Given the description of an element on the screen output the (x, y) to click on. 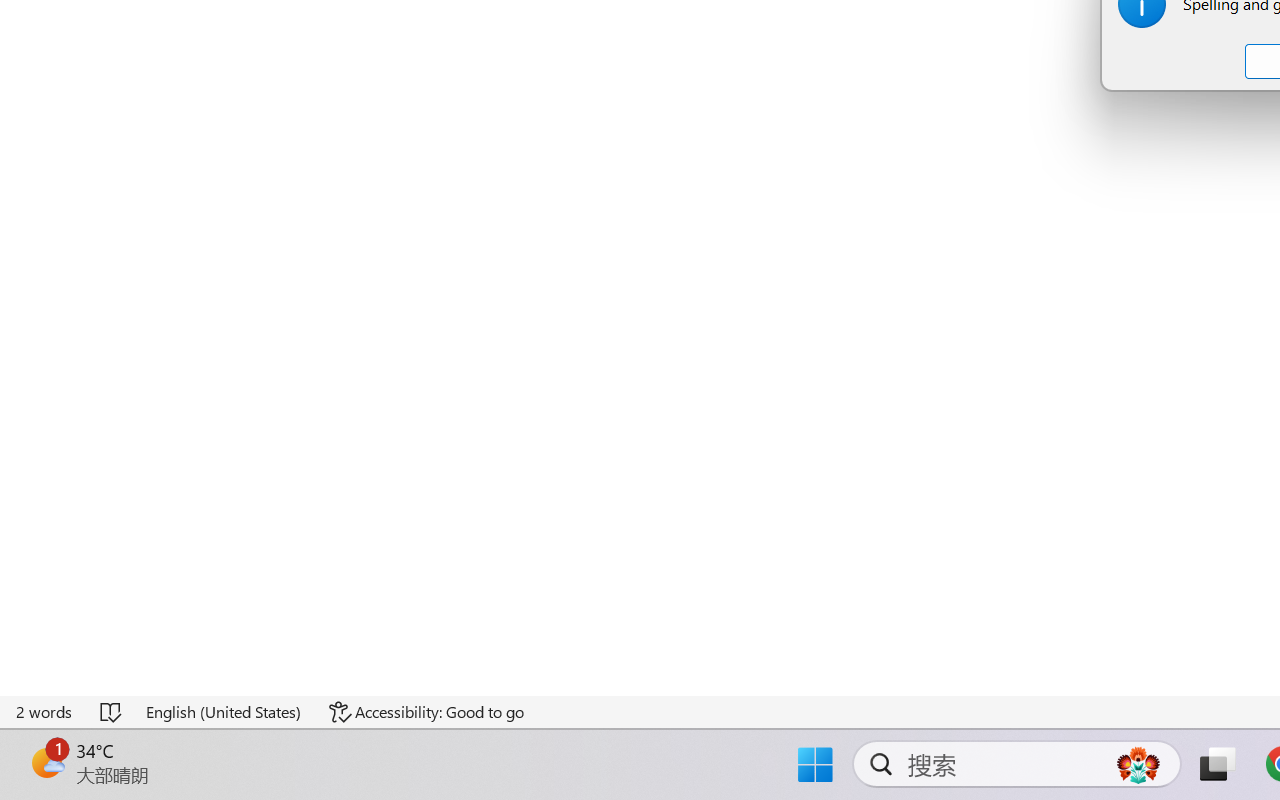
AutomationID: BadgeAnchorLargeTicker (46, 762)
Language English (United States) (224, 712)
AutomationID: DynamicSearchBoxGleamImage (1138, 764)
Word Count 2 words (45, 712)
Spelling and Grammar Check No Errors (112, 712)
Accessibility Checker Accessibility: Good to go (426, 712)
